Given the description of an element on the screen output the (x, y) to click on. 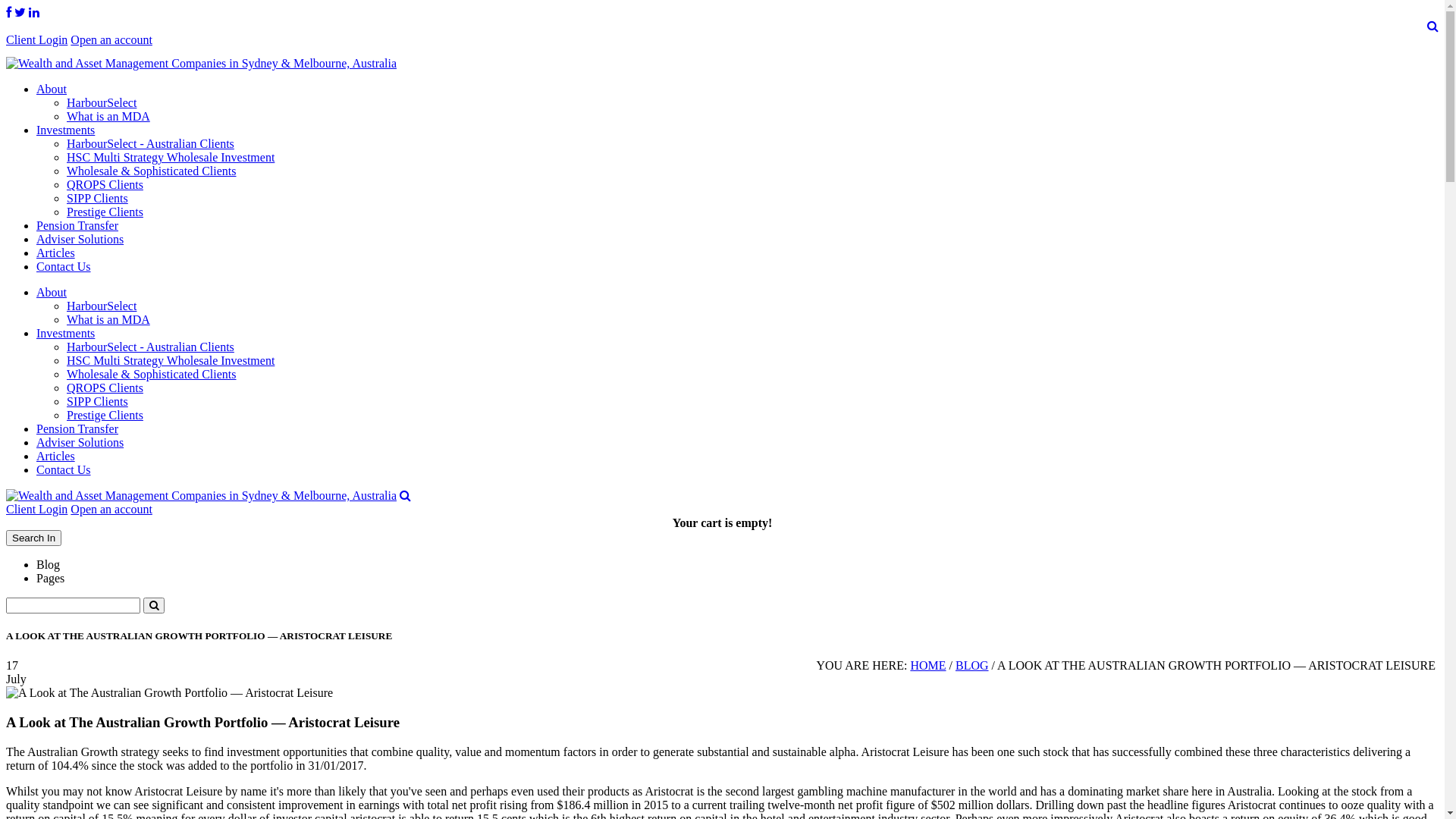
HSC Multi Strategy Wholesale Investment Element type: text (170, 360)
HOME Element type: text (927, 664)
HarbourSelect Element type: text (101, 102)
HSC Multi Strategy Wholesale Investment Element type: text (170, 156)
1300 476 494 Element type: text (210, 39)
What is an MDA Element type: text (108, 319)
What is an MDA Element type: text (108, 115)
Articles Element type: text (55, 252)
About Element type: text (51, 88)
Investments Element type: text (65, 129)
Investments Element type: text (65, 332)
Prestige Clients Element type: text (104, 414)
Pages Element type: text (50, 577)
HarbourSelect - Australian Clients Element type: text (150, 143)
HarbourSelect - Australian Clients Element type: text (150, 346)
Client Login Element type: text (36, 508)
Search In Element type: text (33, 538)
HarbourSelect Element type: text (101, 305)
Adviser Solutions Element type: text (79, 238)
Blog Element type: text (47, 564)
Open an account Element type: text (111, 508)
Adviser Solutions Element type: text (79, 442)
About Element type: text (51, 291)
SIPP Clients Element type: text (97, 401)
BLOG Element type: text (971, 664)
Linked In Element type: hover (33, 12)
Facebook Element type: hover (8, 12)
Client Login Element type: text (36, 39)
Contact Us Element type: text (63, 266)
Pension Transfer Element type: text (77, 225)
Twitter Element type: hover (19, 12)
SIPP Clients Element type: text (97, 197)
Pension Transfer Element type: text (77, 428)
Articles Element type: text (55, 455)
QROPS Clients Element type: text (104, 184)
Prestige Clients Element type: text (104, 211)
Wholesale & Sophisticated Clients Element type: text (151, 373)
QROPS Clients Element type: text (104, 387)
Open an account Element type: text (111, 39)
Search Element type: hover (1432, 25)
Wholesale & Sophisticated Clients Element type: text (151, 170)
Contact Us Element type: text (63, 469)
